Given the description of an element on the screen output the (x, y) to click on. 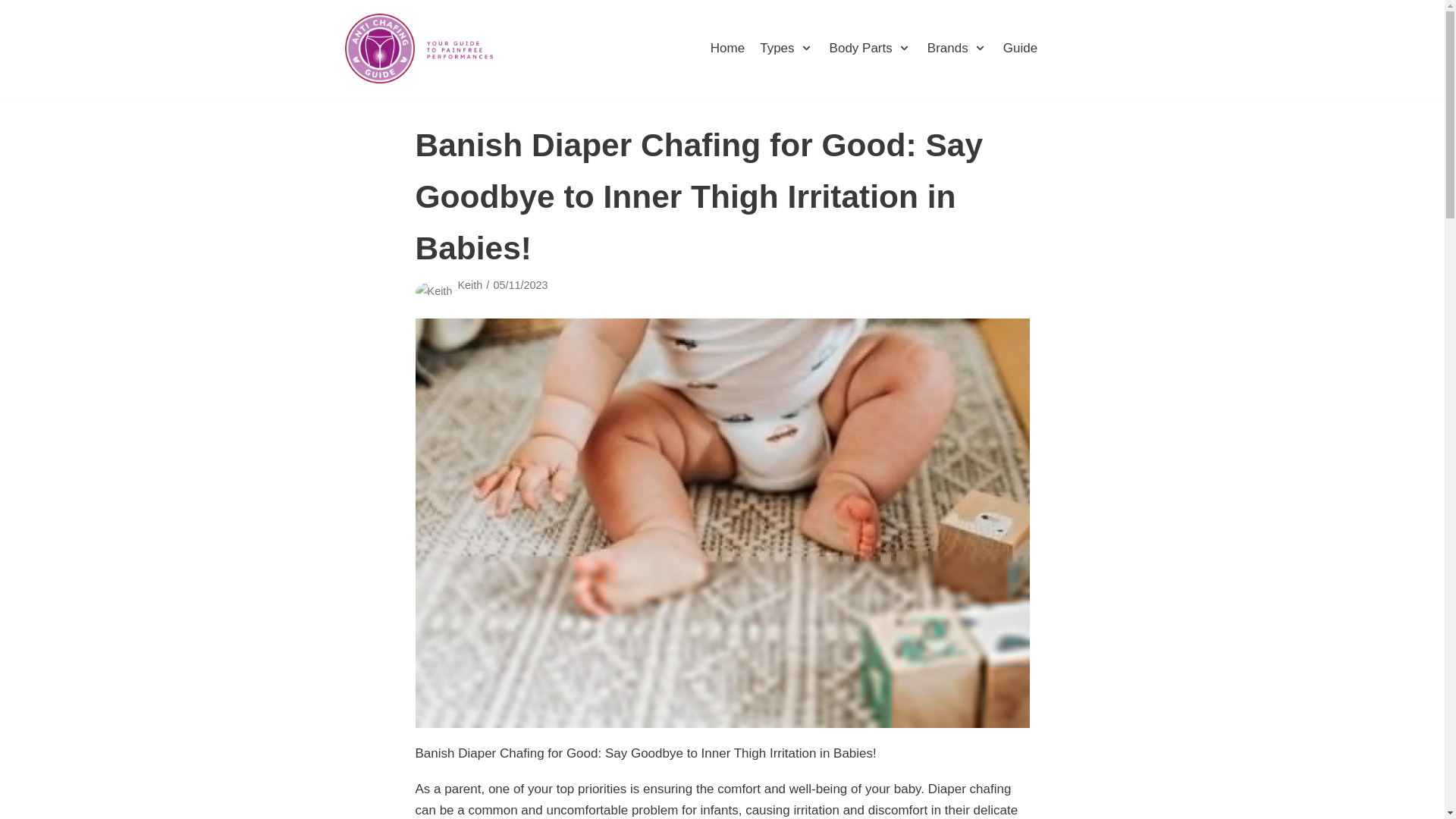
Skip to content (15, 31)
antichafing.net (419, 48)
Body Parts (870, 47)
Posts by Keith (469, 285)
Brands (957, 47)
Guide (1019, 47)
Types (786, 47)
Home (727, 47)
